Given the description of an element on the screen output the (x, y) to click on. 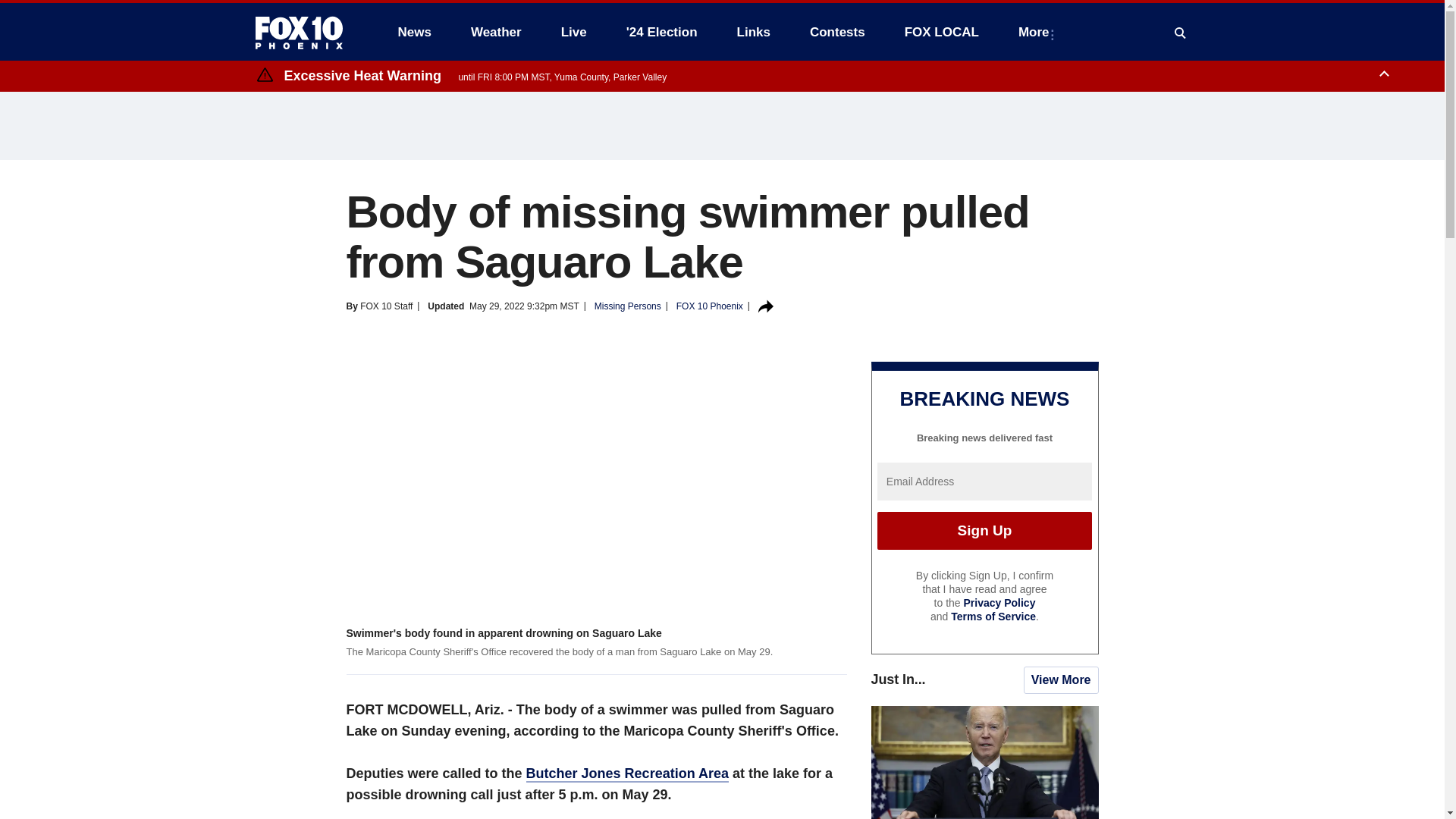
Links (754, 32)
News (413, 32)
Sign Up (984, 530)
More (1036, 32)
Weather (496, 32)
'24 Election (662, 32)
Live (573, 32)
FOX LOCAL (941, 32)
Contests (837, 32)
